Given the description of an element on the screen output the (x, y) to click on. 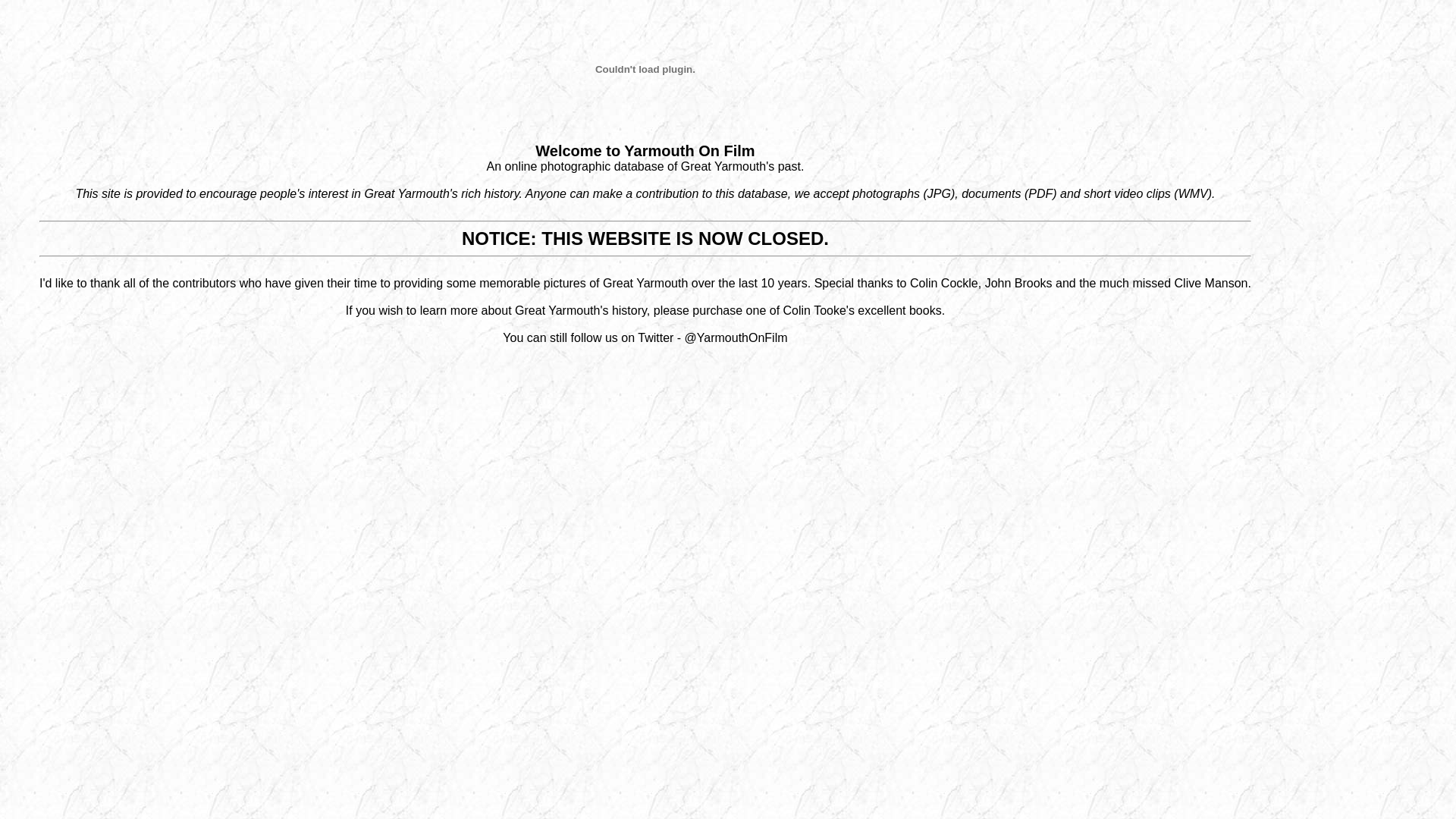
@YarmouthOnFilm Element type: text (735, 337)
Colin Tooke's Element type: text (818, 310)
